Given the description of an element on the screen output the (x, y) to click on. 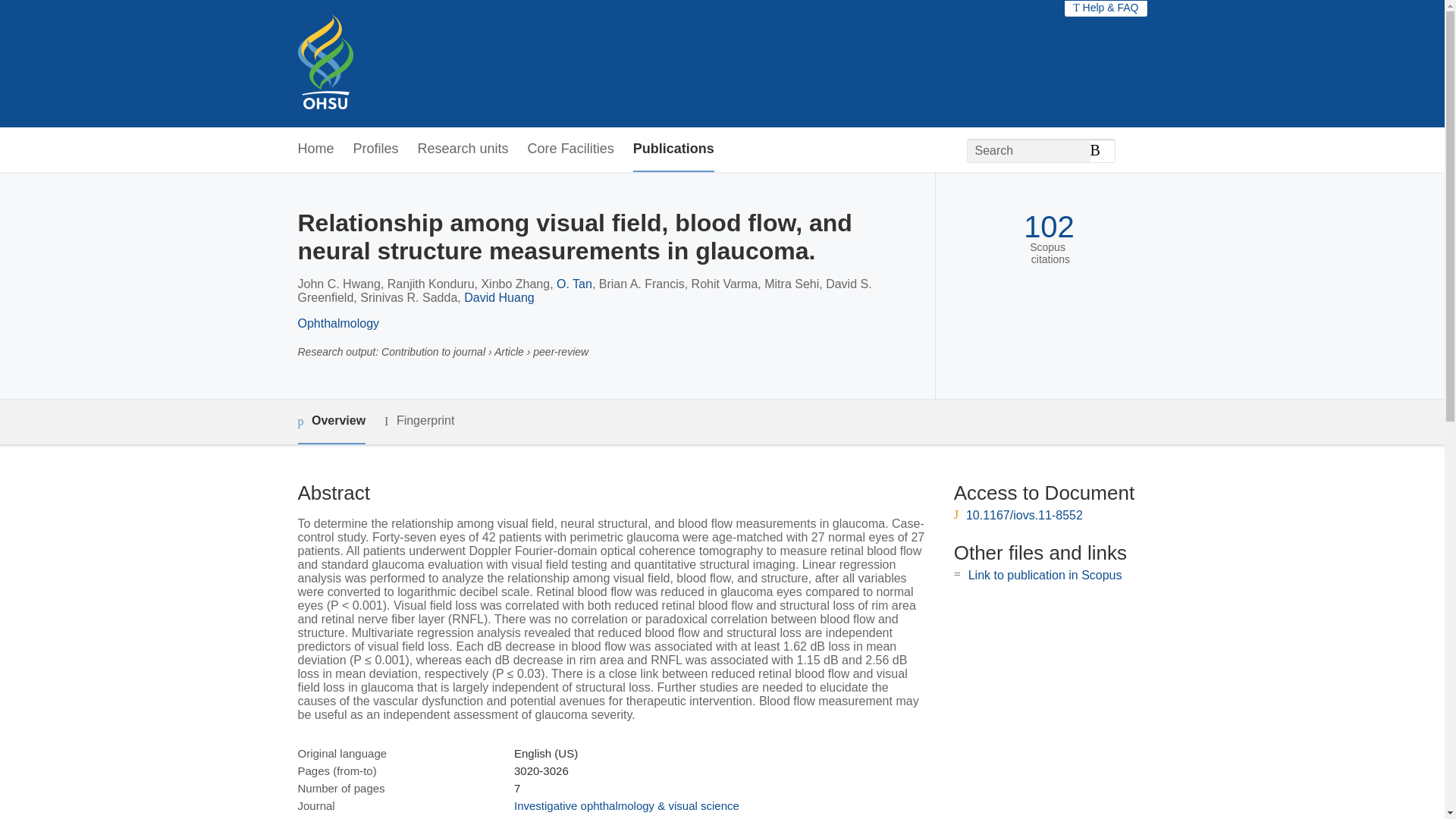
102 (1048, 226)
Ophthalmology (337, 323)
Core Facilities (570, 149)
David Huang (499, 297)
Link to publication in Scopus (1045, 574)
Overview (331, 421)
Fingerprint (419, 421)
Profiles (375, 149)
Research units (462, 149)
O. Tan (574, 283)
Publications (673, 149)
